Given the description of an element on the screen output the (x, y) to click on. 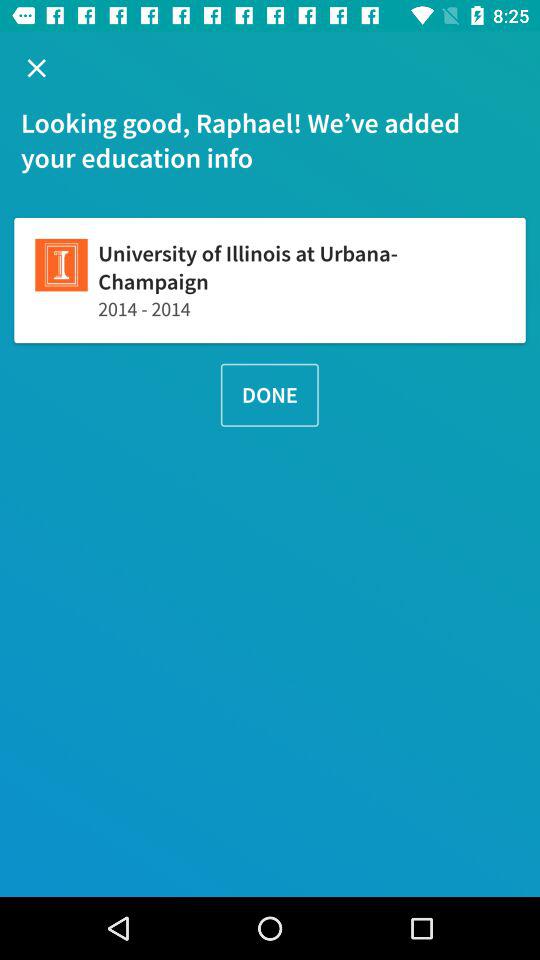
turn on the icon at the center (269, 394)
